Given the description of an element on the screen output the (x, y) to click on. 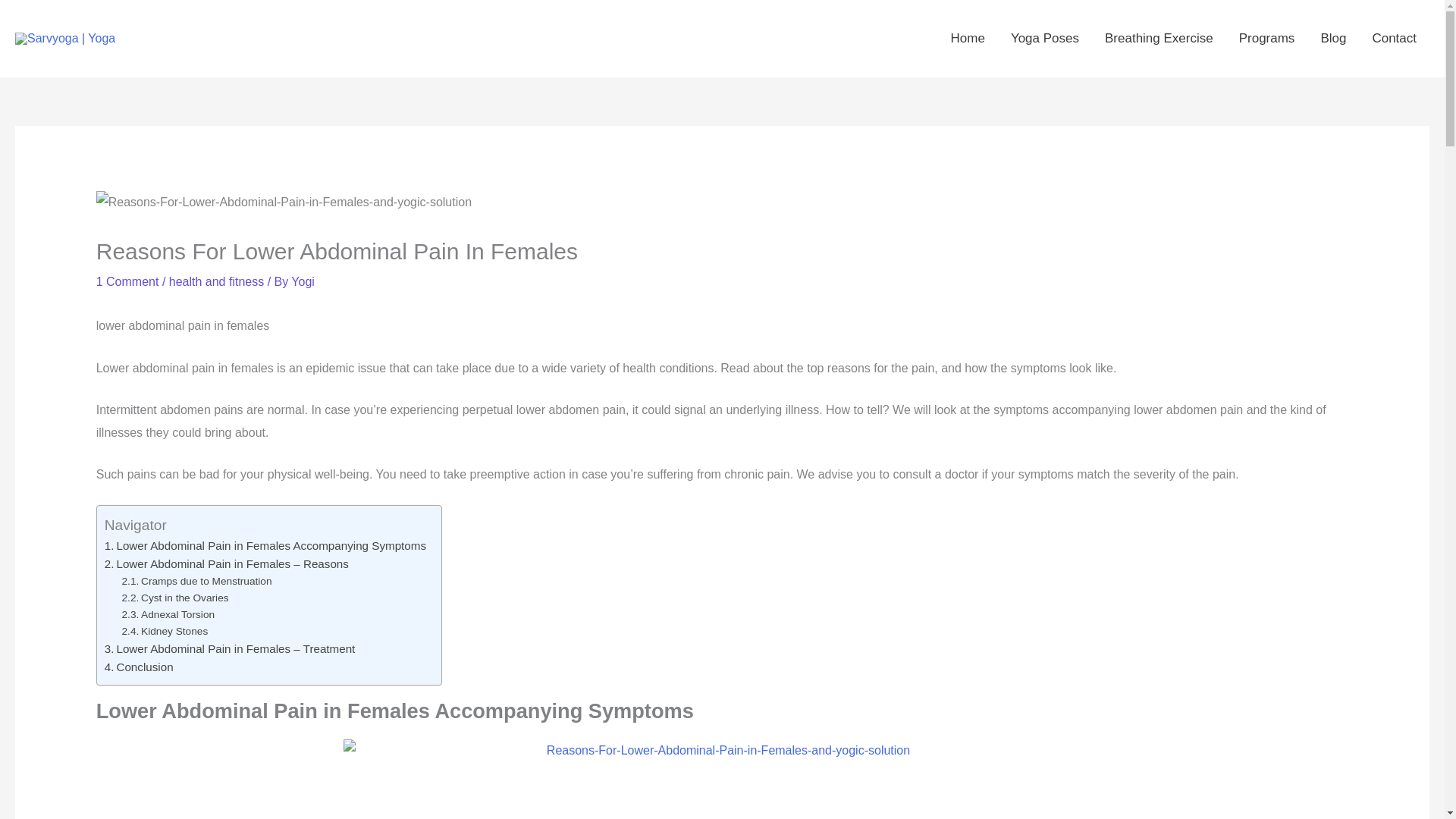
Kidney Stones (165, 631)
health and fitness (215, 281)
Yogi (302, 281)
Home (967, 38)
Lower Abdominal Pain in Females Accompanying Symptoms (265, 546)
Conclusion (138, 667)
Contact (1393, 38)
Cyst in the Ovaries (175, 597)
Programs (1266, 38)
Yoga Poses (1044, 38)
Adnexal Torsion (168, 614)
1 Comment (127, 281)
Cramps due to Menstruation (197, 581)
Cramps due to Menstruation (197, 581)
Kidney Stones (165, 631)
